Given the description of an element on the screen output the (x, y) to click on. 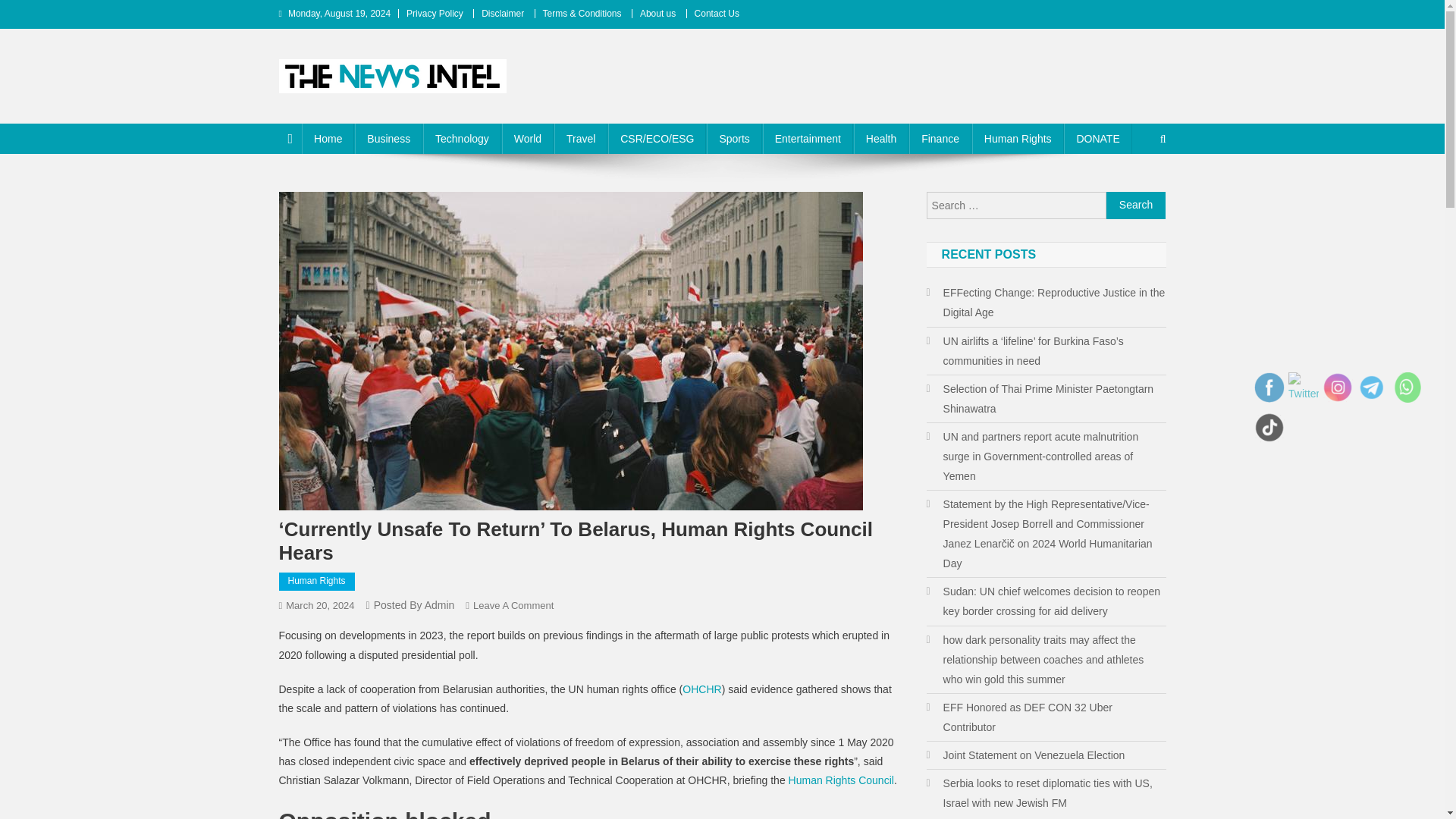
DONATE (1097, 138)
Human Rights (317, 581)
Human Rights Council (841, 779)
Posted By Admin (414, 604)
Search (1133, 189)
Entertainment (807, 138)
March 20, 2024 (319, 604)
Travel (580, 138)
Telegram (1371, 387)
Instagram (1337, 387)
